Given the description of an element on the screen output the (x, y) to click on. 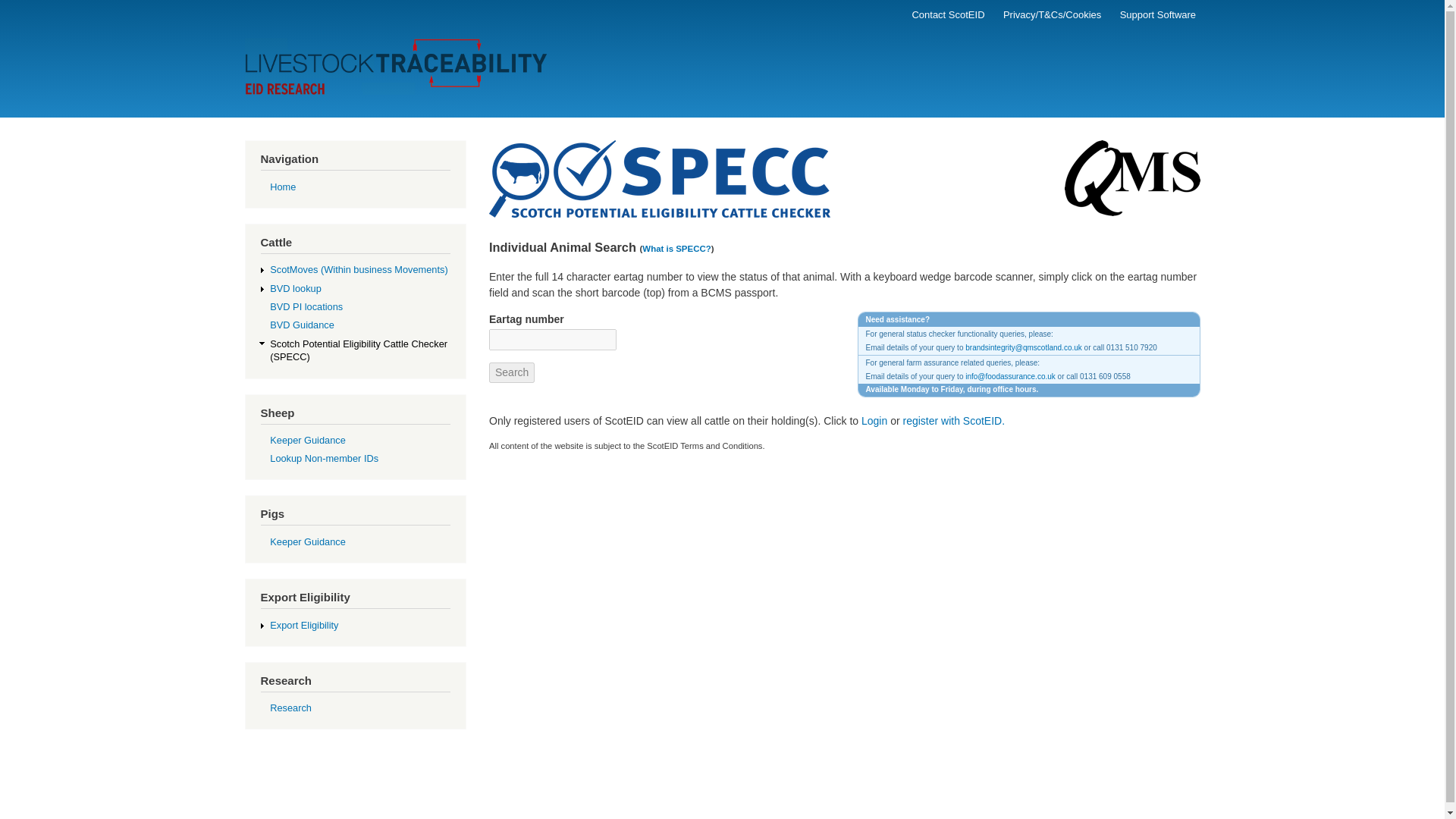
Export Eligibility (303, 624)
Login (873, 420)
BVD lookup (295, 288)
register with ScotEID. (953, 420)
Keeper Guidance (307, 439)
Contact ScotEID (948, 15)
Support Software (1158, 15)
Keeper Guidance (307, 541)
Lookup Non-member IDs (323, 458)
Skip to main content (722, 1)
UKXXXXXXXXXXXX (552, 339)
Research (290, 707)
Home (282, 186)
Search (511, 372)
